Given the description of an element on the screen output the (x, y) to click on. 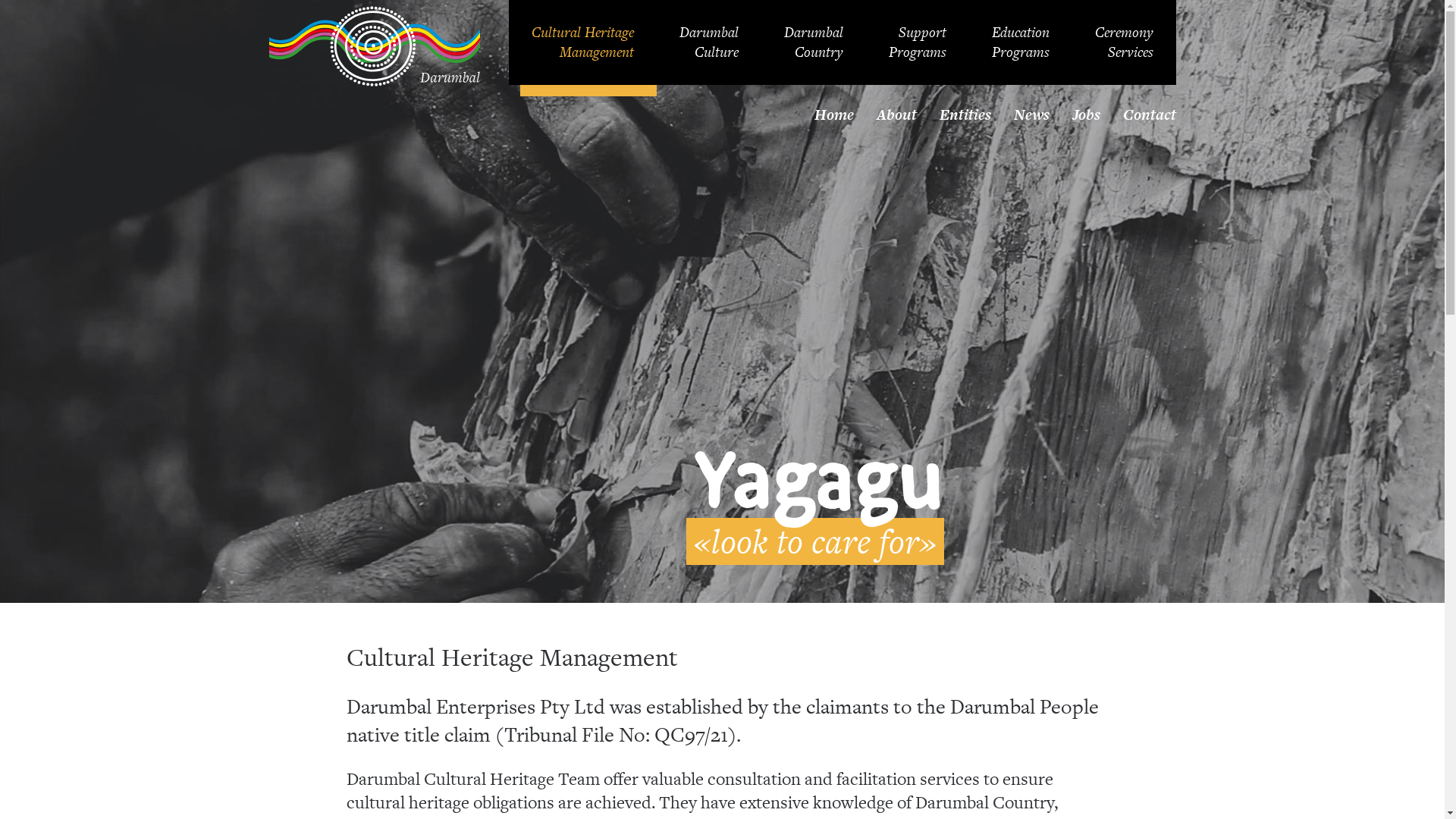
Entities Element type: text (965, 114)
Jobs Element type: text (1085, 114)
Home Element type: text (833, 114)
Darumbal
Culture Element type: text (708, 42)
Ceremony
Services Element type: text (1124, 42)
Darumbal
Country Element type: text (813, 42)
Cultural Heritage
Management Element type: text (581, 42)
Support
Programs Element type: text (917, 42)
Education
Programs Element type: text (1020, 42)
About Element type: text (895, 114)
Contact Element type: text (1149, 114)
News Element type: text (1031, 114)
